Given the description of an element on the screen output the (x, y) to click on. 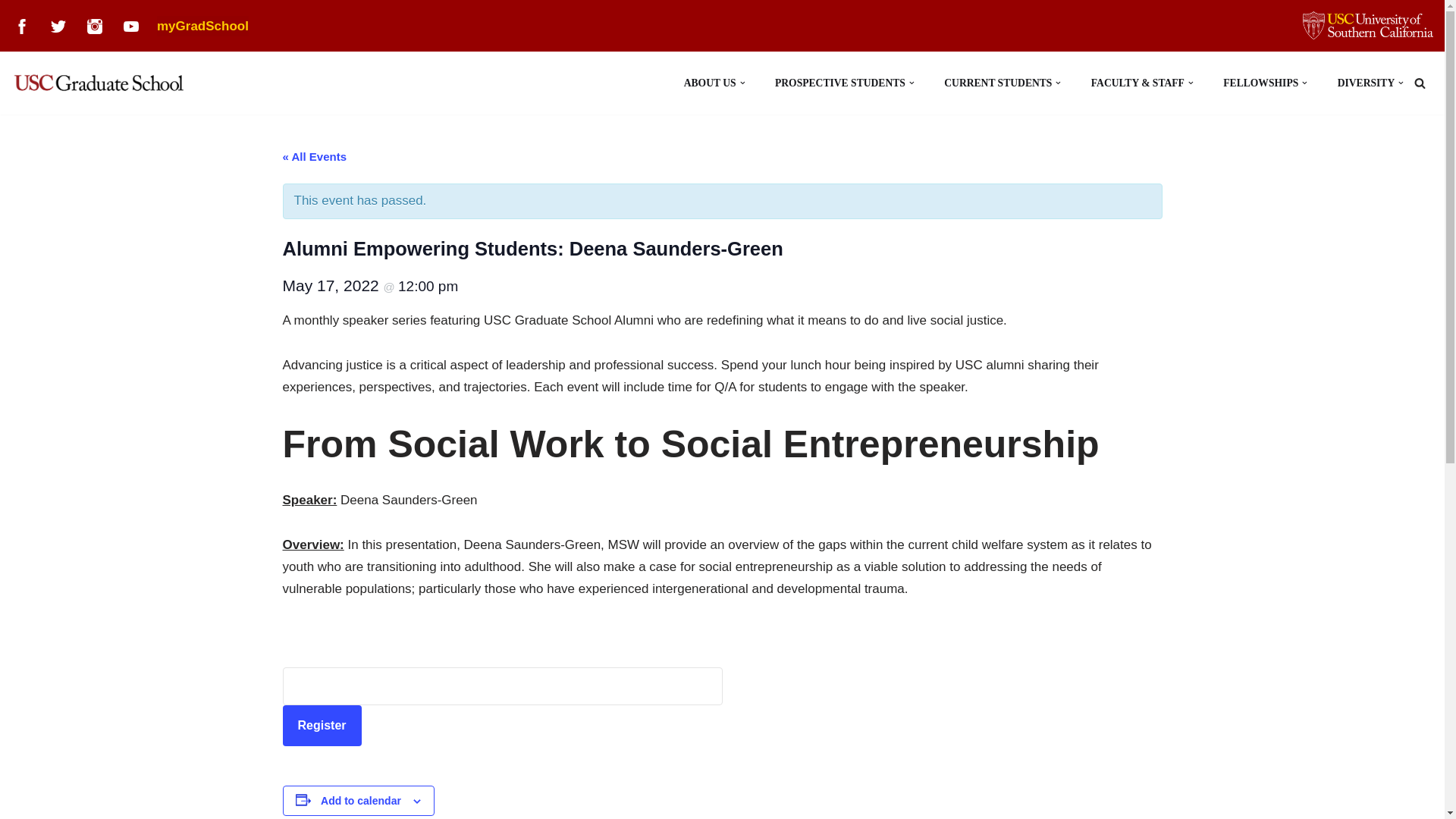
myGradSchool (202, 25)
CURRENT STUDENTS (997, 82)
Skip to content (11, 31)
PROSPECTIVE STUDENTS (839, 82)
FELLOWSHIPS (1260, 82)
DIVERSITY (1366, 82)
ABOUT US (710, 82)
